Given the description of an element on the screen output the (x, y) to click on. 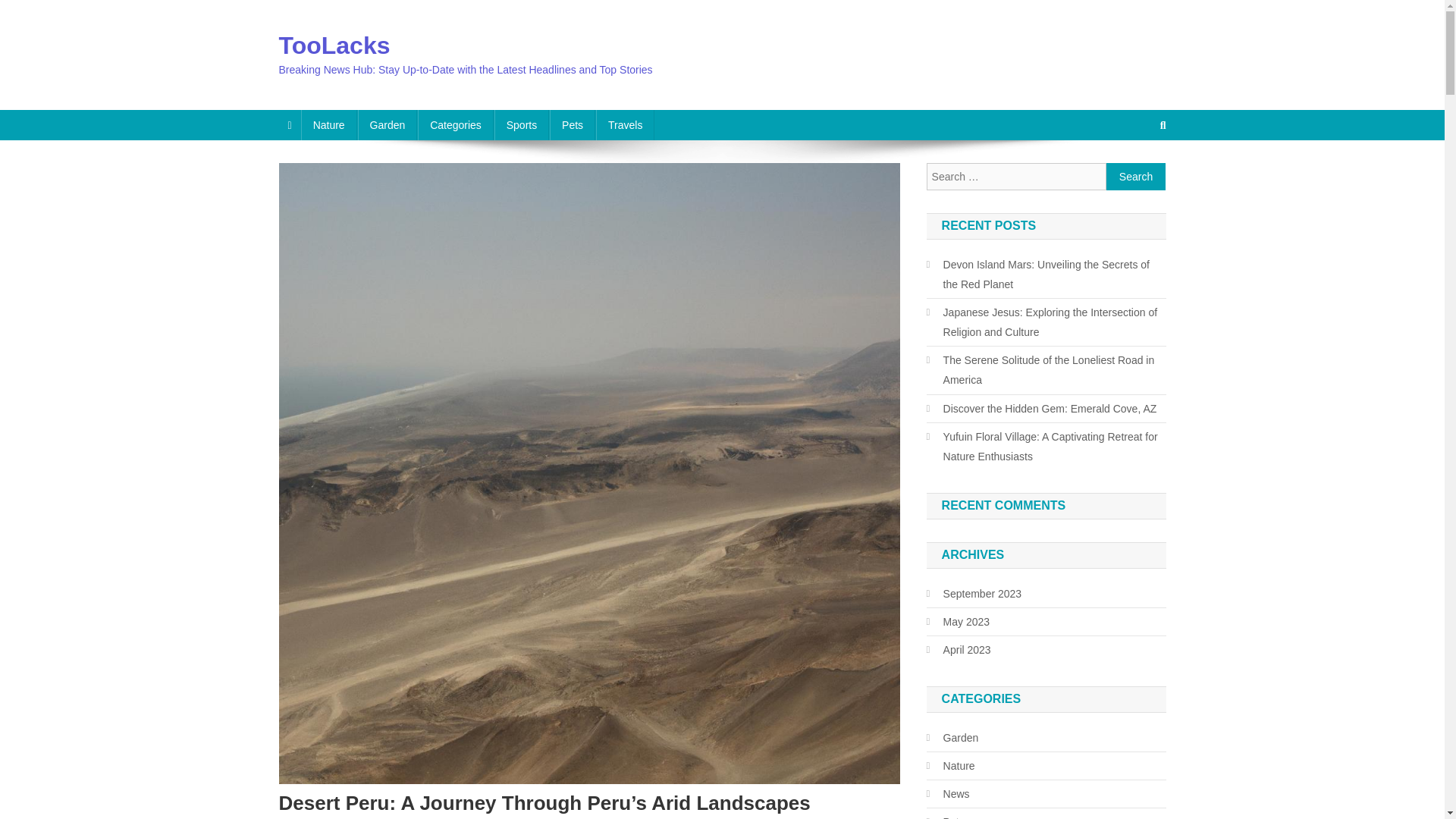
Search (1136, 176)
Pets (572, 124)
Discover the Hidden Gem: Emerald Cove, AZ (1041, 408)
Search (1136, 176)
Sports (521, 124)
Travels (624, 124)
September 2023 (974, 593)
TooLacks (334, 44)
Search (1136, 176)
Devon Island Mars: Unveiling the Secrets of the Red Planet (1046, 274)
Nature (328, 124)
May 2023 (958, 621)
Garden (387, 124)
The Serene Solitude of the Loneliest Road in America (1046, 369)
